Given the description of an element on the screen output the (x, y) to click on. 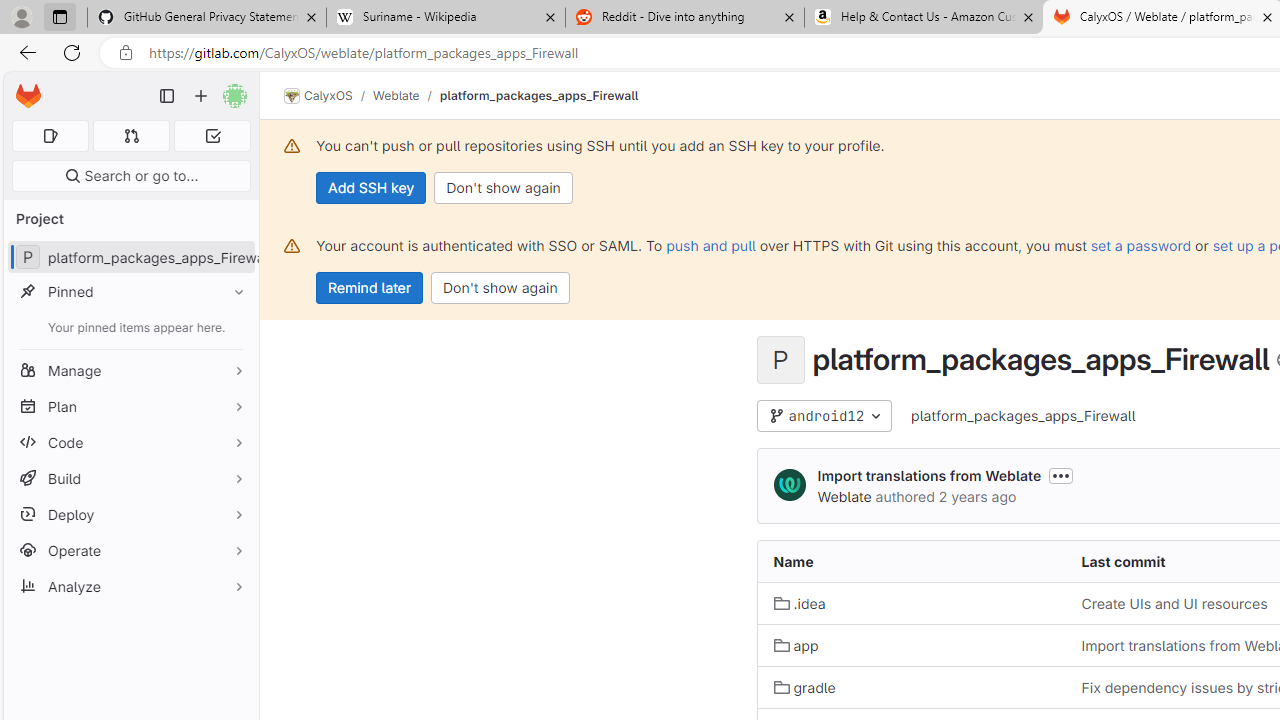
Analyze (130, 586)
